Given the description of an element on the screen output the (x, y) to click on. 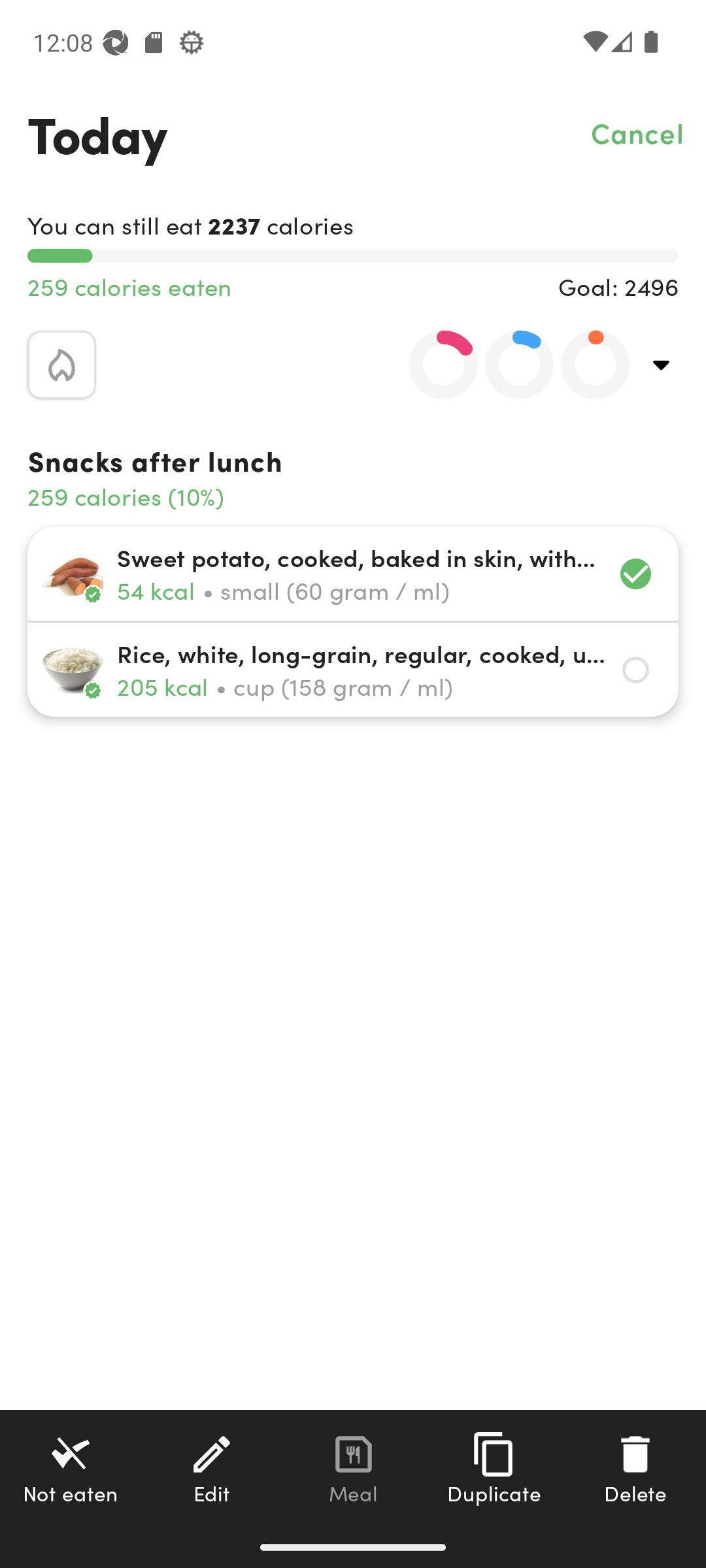
Cancel (637, 132)
calorie_icon (62, 365)
0.15 0.09 0.01 (508, 365)
top_right_action (661, 365)
Not eaten (70, 1468)
Edit (211, 1468)
Meal (352, 1468)
Duplicate (493, 1468)
Delete (635, 1468)
